Given the description of an element on the screen output the (x, y) to click on. 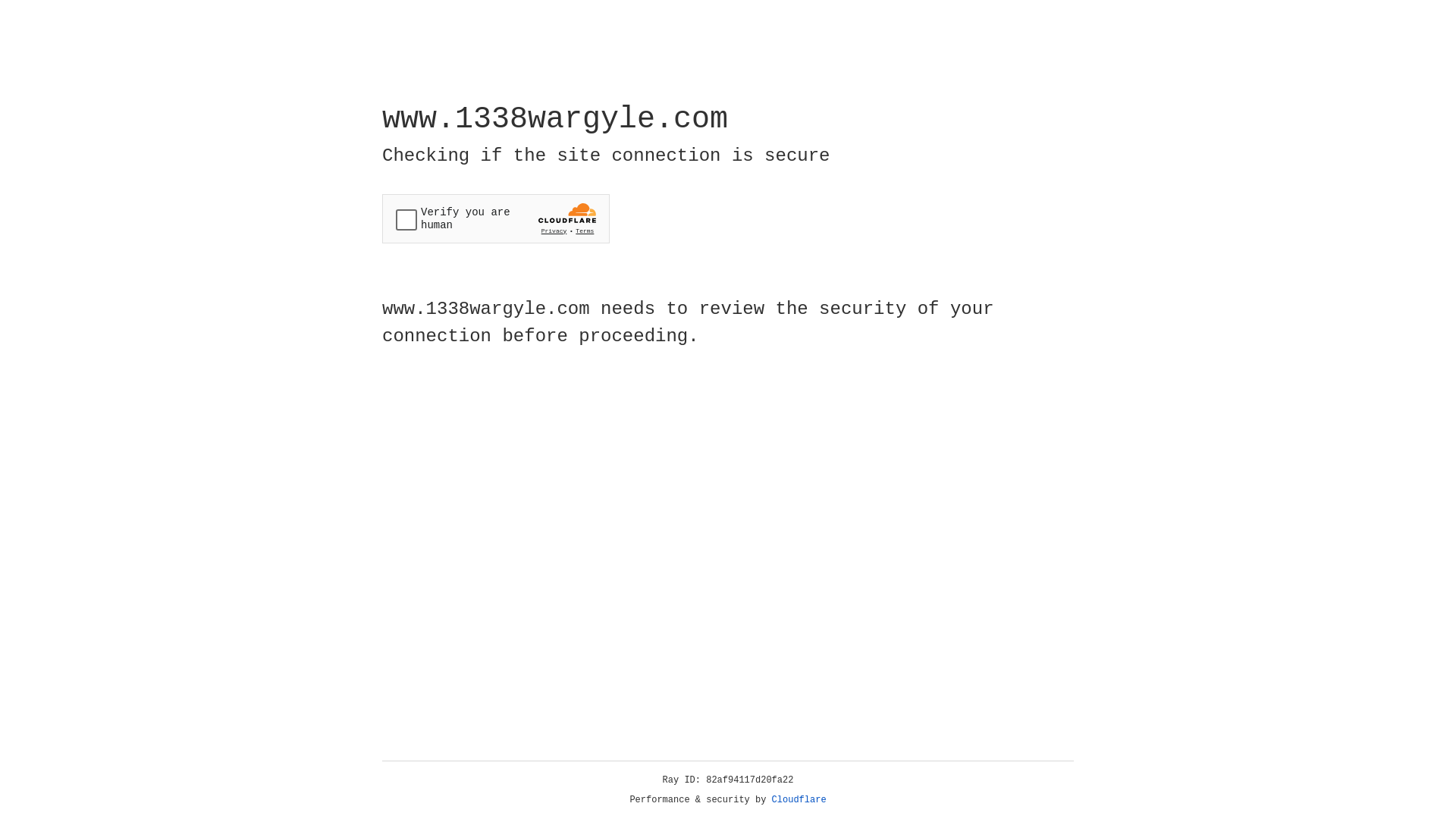
Cloudflare Element type: text (798, 799)
Widget containing a Cloudflare security challenge Element type: hover (495, 218)
